Given the description of an element on the screen output the (x, y) to click on. 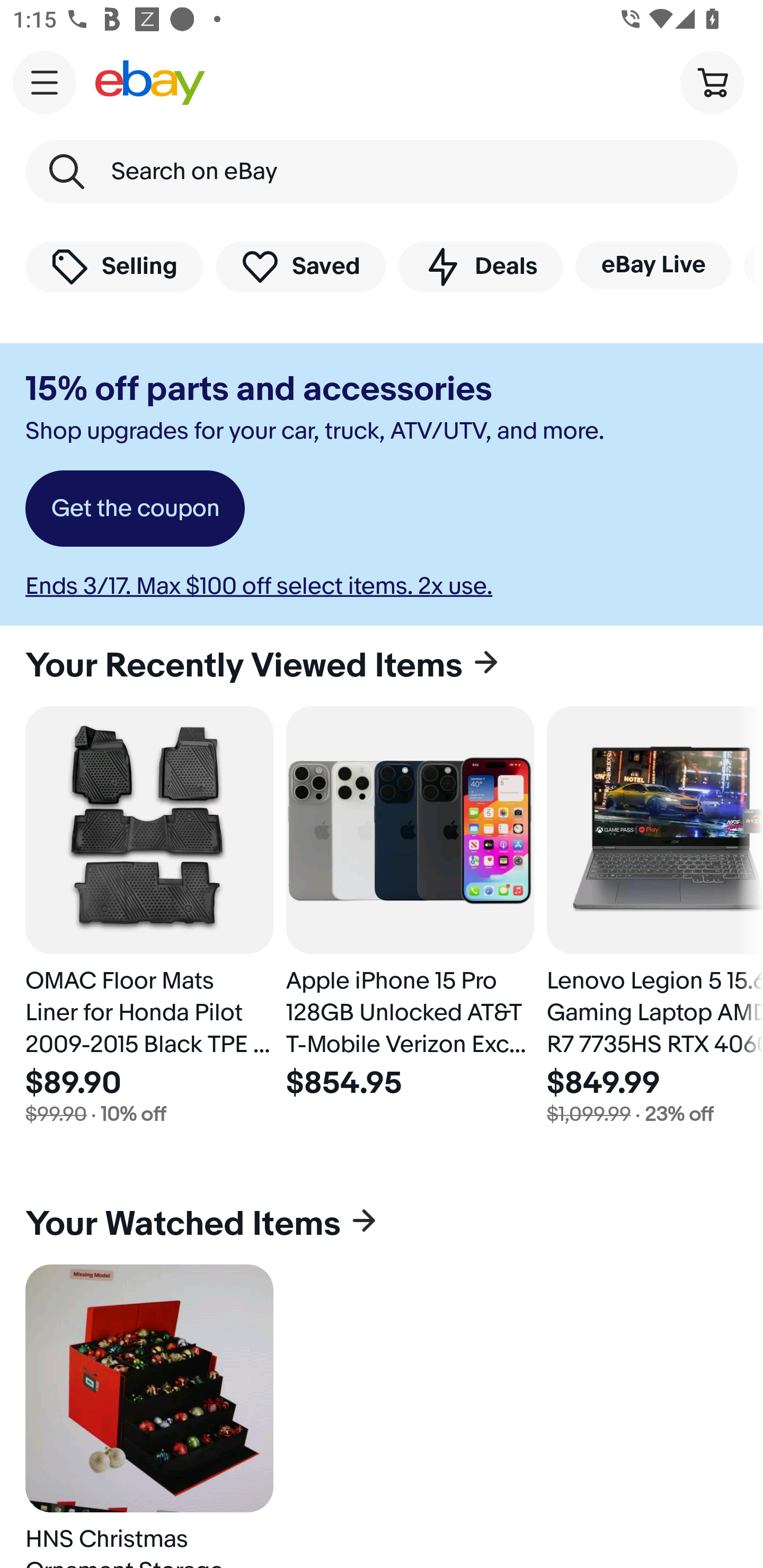
Main navigation, open (44, 82)
Cart button shopping cart (711, 81)
Search on eBay Search Keyword Search on eBay (381, 171)
Selling (113, 266)
Saved (300, 266)
Deals (480, 266)
eBay Live (652, 264)
15% off parts and accessories (258, 389)
Get the coupon (134, 508)
Ends 3/17. Max $100 off select items. 2x use. (258, 586)
Your Recently Viewed Items   (381, 665)
Your Watched Items   (381, 1223)
